Given the description of an element on the screen output the (x, y) to click on. 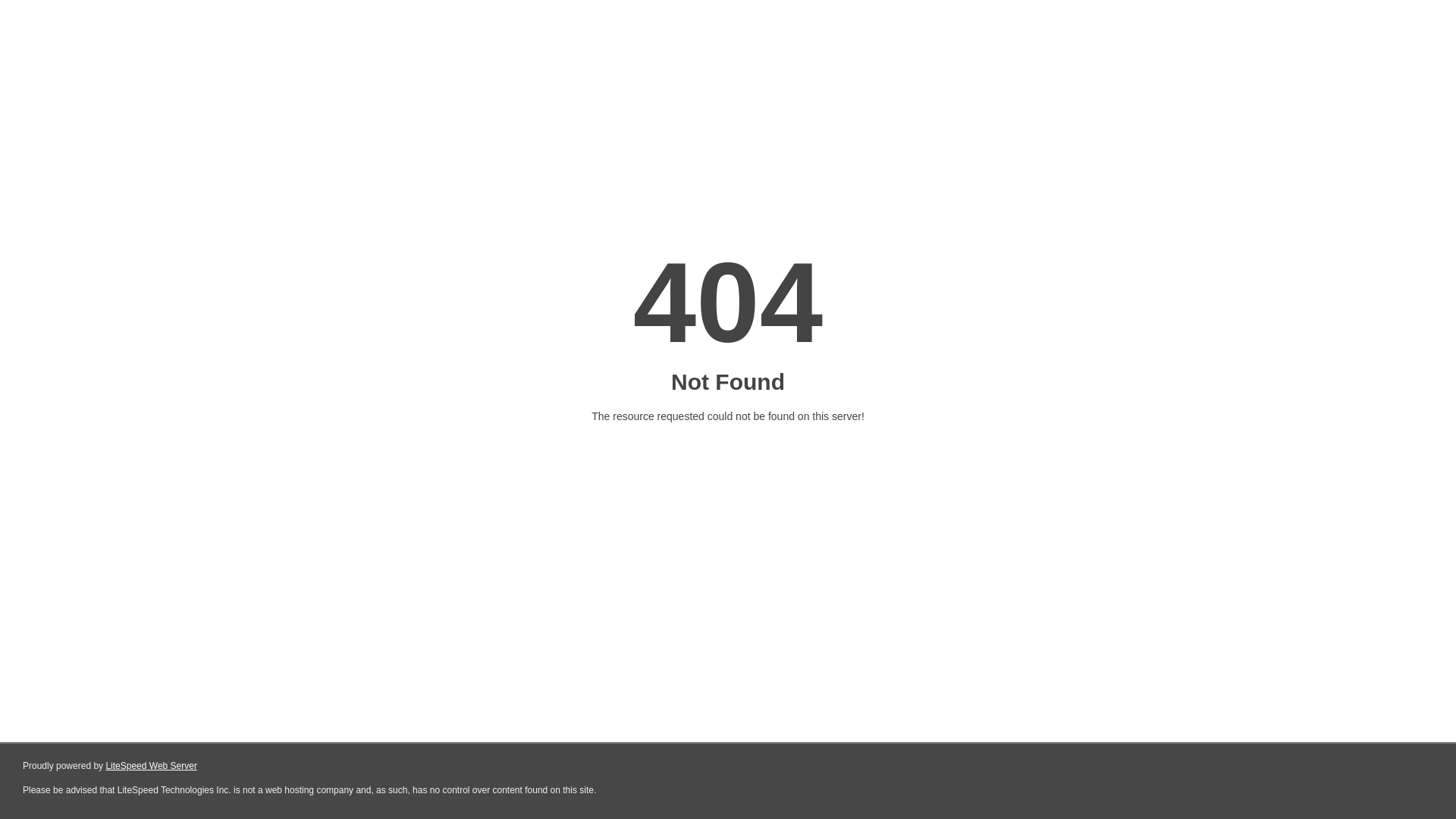
LiteSpeed Web Server Element type: text (151, 765)
